Given the description of an element on the screen output the (x, y) to click on. 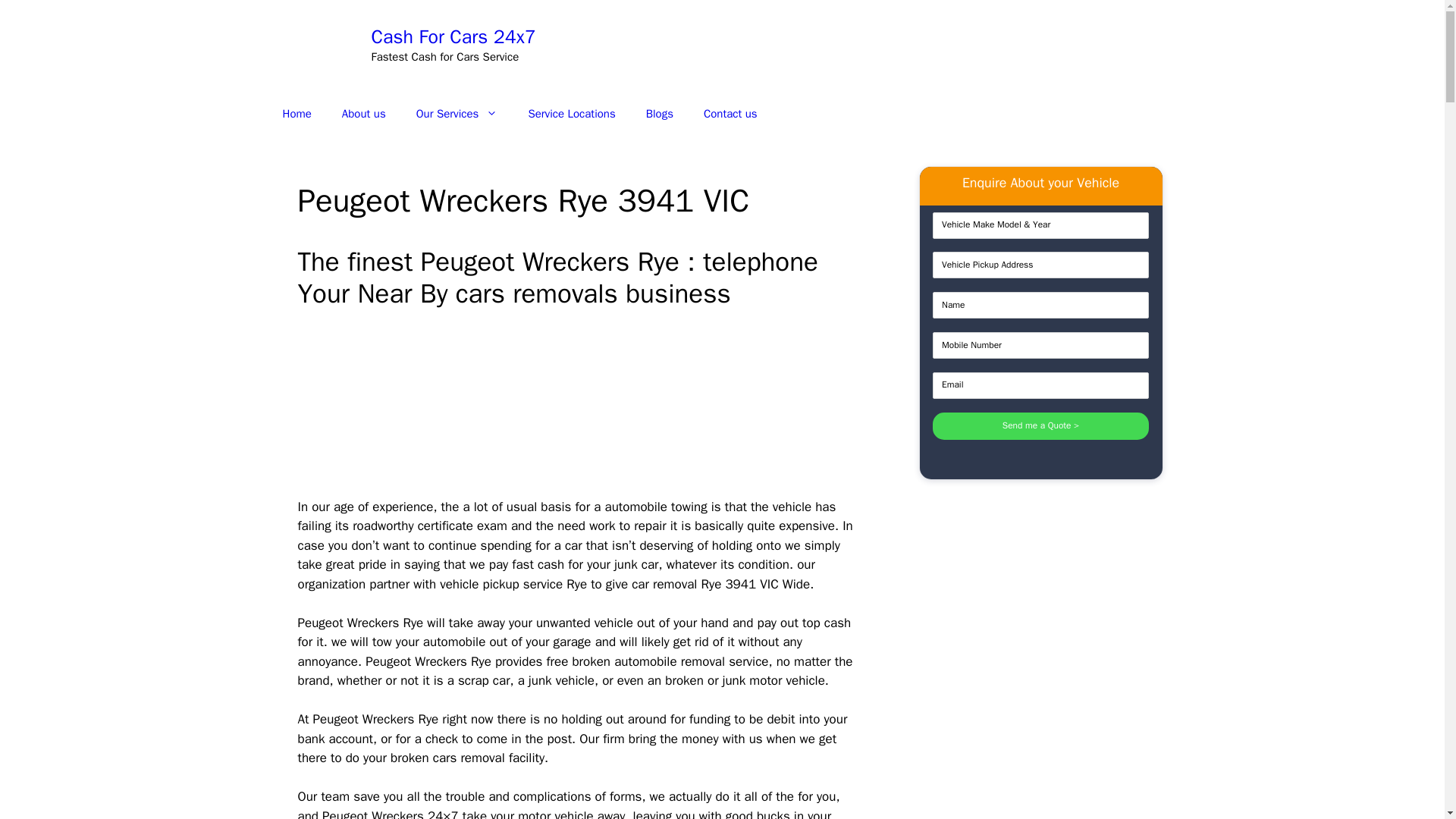
Our Services (457, 113)
Blogs (659, 113)
About us (363, 113)
Service Locations (571, 113)
Cash For Cars 24x7 (453, 36)
Home (296, 113)
0413 820 969 (1043, 45)
Peugeot Wreckers Rye 3941 VIC 1 (529, 407)
Contact us (730, 113)
